Given the description of an element on the screen output the (x, y) to click on. 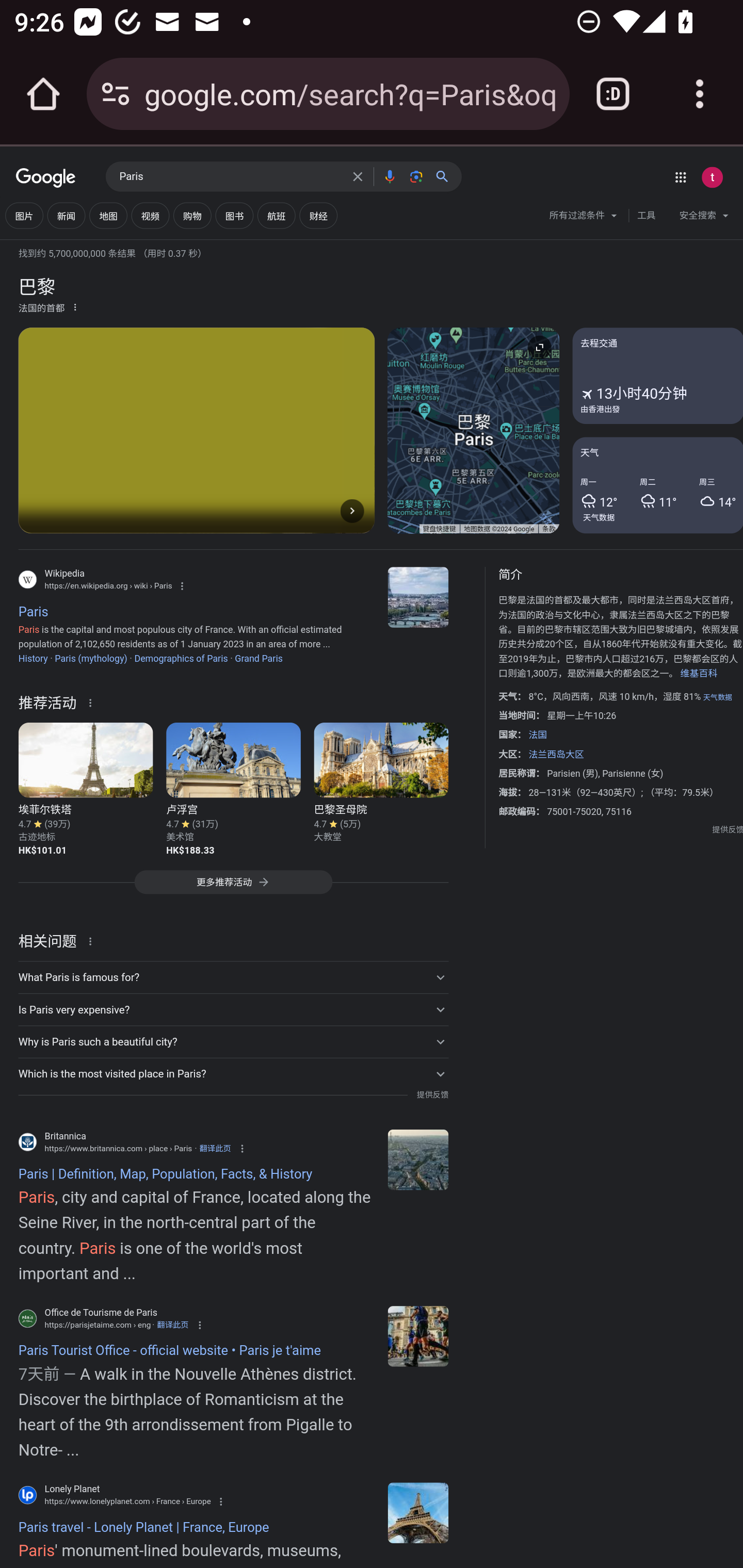
Open the home page (43, 93)
Connection is secure (115, 93)
Switch or close tabs (612, 93)
Customize and control Google Chrome (699, 93)
清除 (357, 176)
按语音搜索 (389, 176)
按图搜索 (415, 176)
搜索 (446, 176)
Google 应用 (680, 176)
Google 账号： test appium (testappium002@gmail.com) (712, 176)
Google (45, 178)
Paris (229, 177)
图片 (24, 215)
新闻 (65, 215)
地图 (107, 215)
视频 (149, 215)
购物 (191, 215)
图书 (234, 215)
航班 (276, 215)
财经 (318, 215)
所有过滤条件 (583, 217)
工具 (646, 215)
安全搜索 (703, 217)
更多选项 (74, 306)
去程交通 13小时40分钟 乘坐飞机 由香港出發 (657, 375)
展开地图 (539, 346)
天气 周一 高温 12 度 周二 高温 11 度 周三 高温 14 度 (657, 484)
下一张图片 (352, 510)
天气数据 (599, 516)
Paris (417, 597)
History (32, 658)
Paris (mythology) (90, 658)
Demographics of Paris (180, 658)
Grand Paris (258, 658)
维基百科 (697, 672)
天气数据 (717, 697)
关于这条结果的详细信息 (93, 701)
法国 (537, 734)
法兰西岛大区 (555, 753)
提供反馈 (727, 829)
更多推荐活动 (232, 887)
关于这条结果的详细信息 (93, 939)
What Paris is famous for? (232, 977)
Is Paris very expensive? (232, 1009)
Why is Paris such a beautiful city? (232, 1041)
Which is the most visited place in Paris? (232, 1072)
提供反馈 (432, 1094)
Paris (417, 1159)
翻译此页 (215, 1148)
eng (417, 1336)
翻译此页 (172, 1324)
paris (417, 1511)
